Given the description of an element on the screen output the (x, y) to click on. 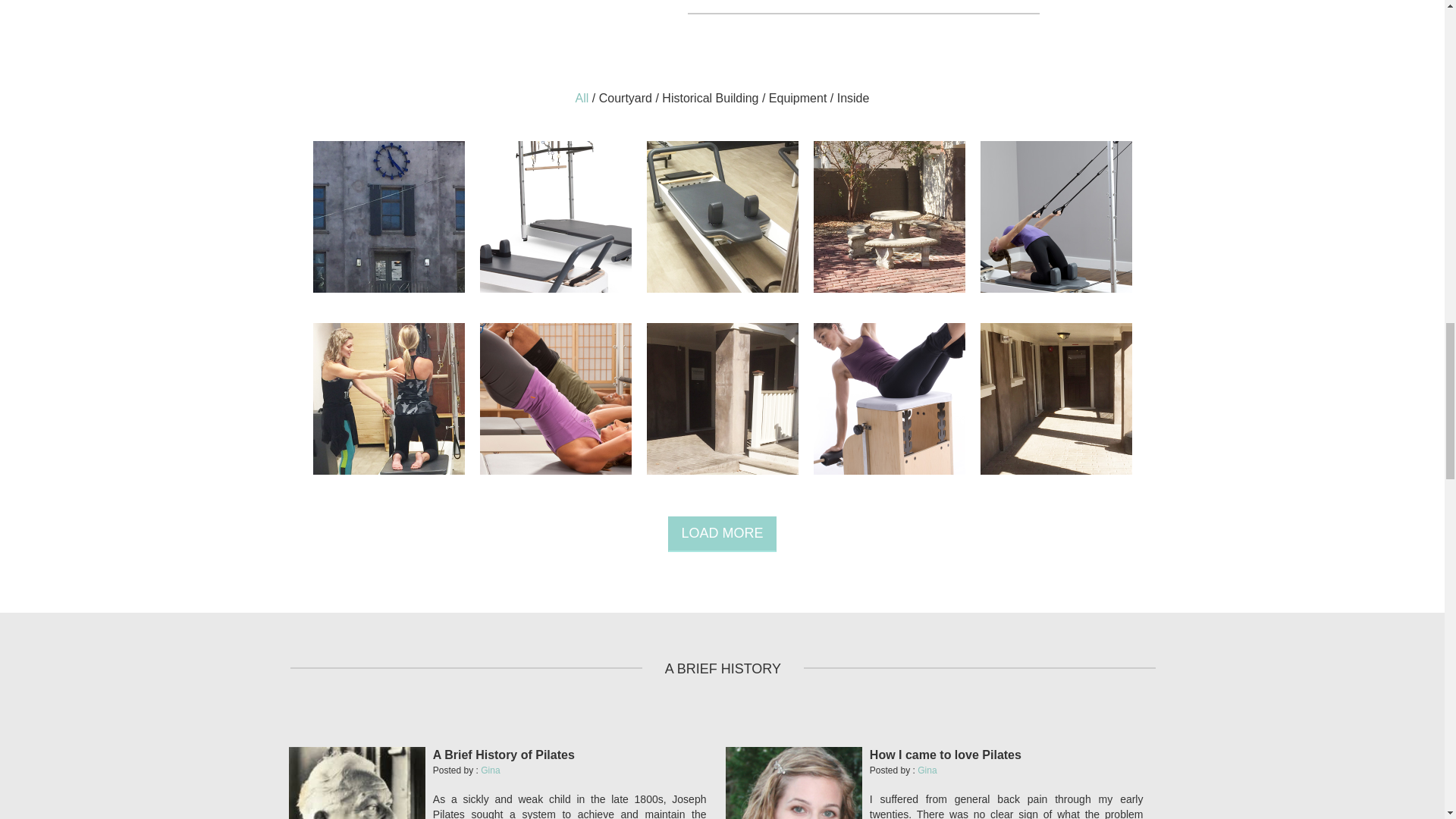
Historical Building (710, 97)
Equipment (797, 97)
Courtyard (627, 97)
Gina (489, 769)
Inside (853, 97)
LOAD MORE (722, 534)
All (582, 97)
